Given the description of an element on the screen output the (x, y) to click on. 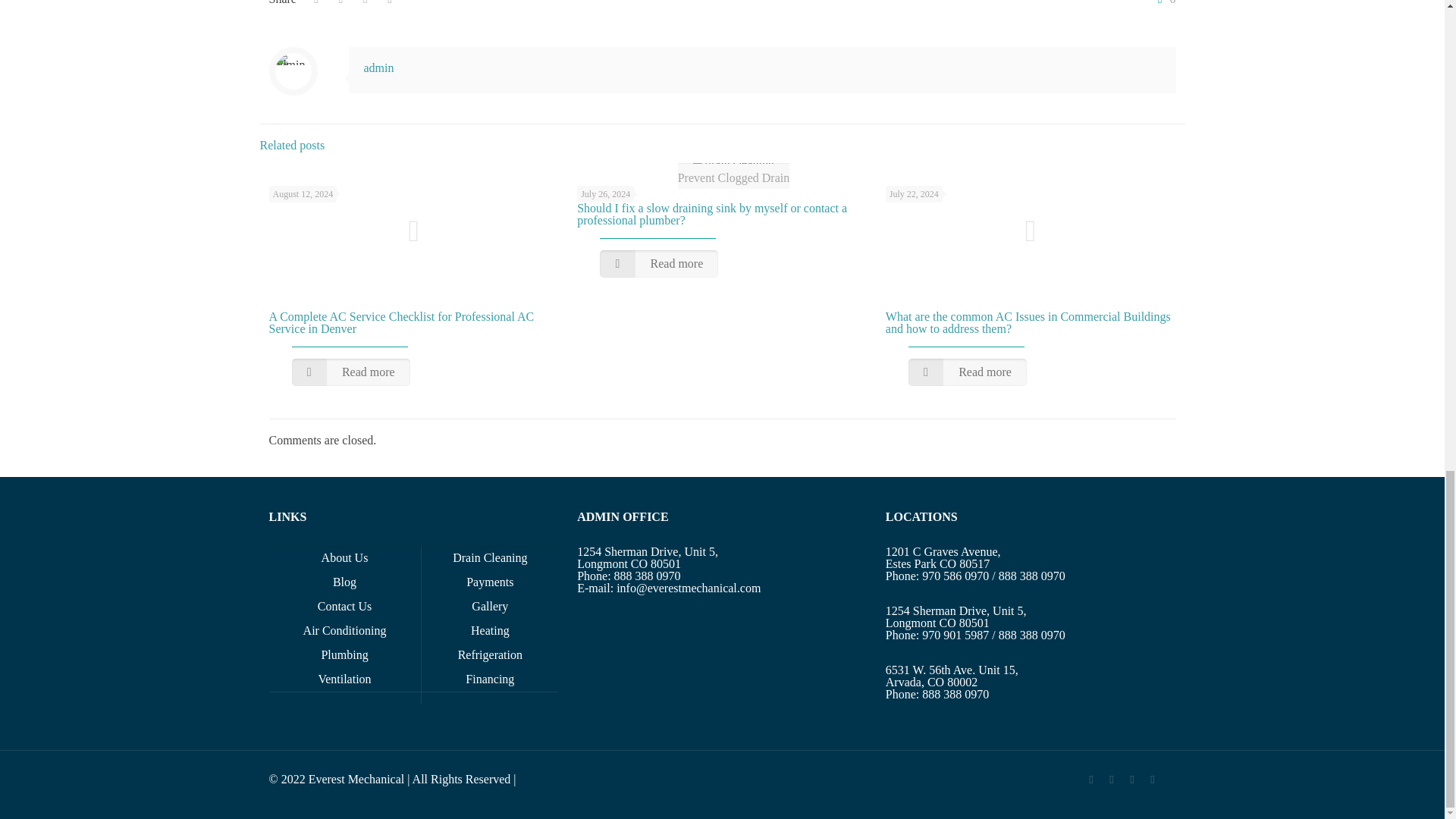
Instagram (1152, 779)
Twitter (1111, 779)
LinkedIn (1132, 779)
Facebook (1091, 779)
